Given the description of an element on the screen output the (x, y) to click on. 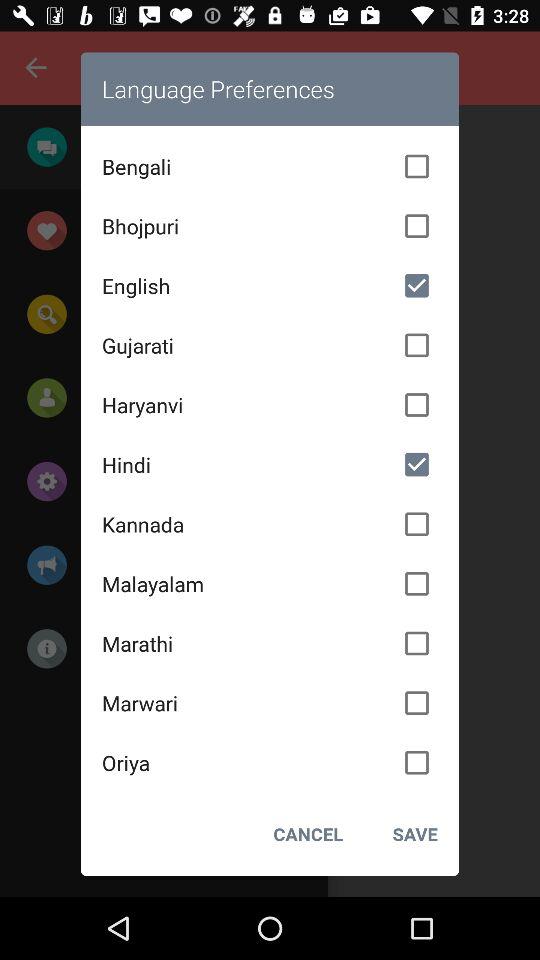
launch the item above haryanvi item (270, 345)
